Given the description of an element on the screen output the (x, y) to click on. 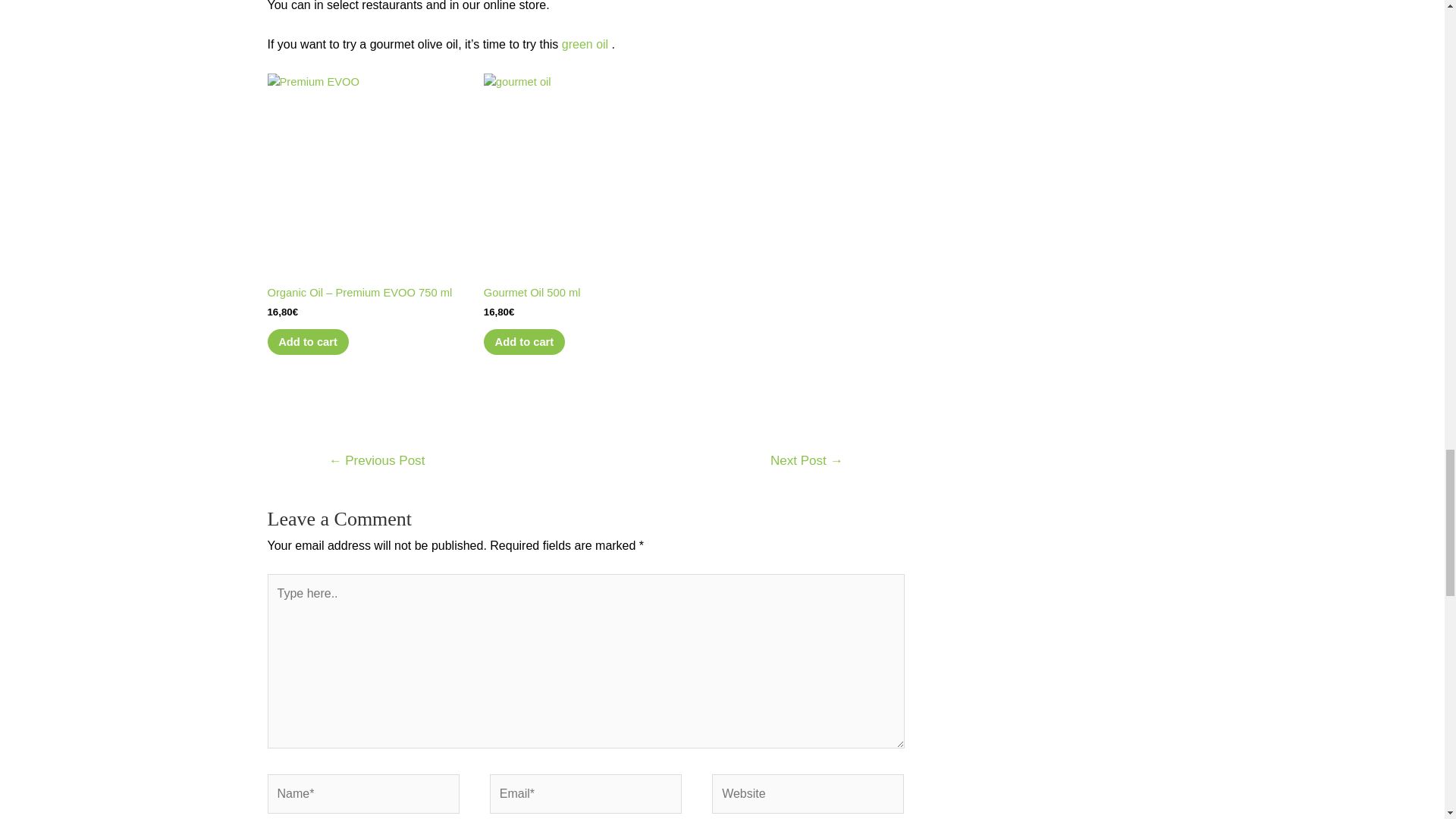
Add to cart (306, 341)
Gourmet Oil 500 ml (585, 186)
green oil (585, 43)
Add to cart (523, 341)
